Given the description of an element on the screen output the (x, y) to click on. 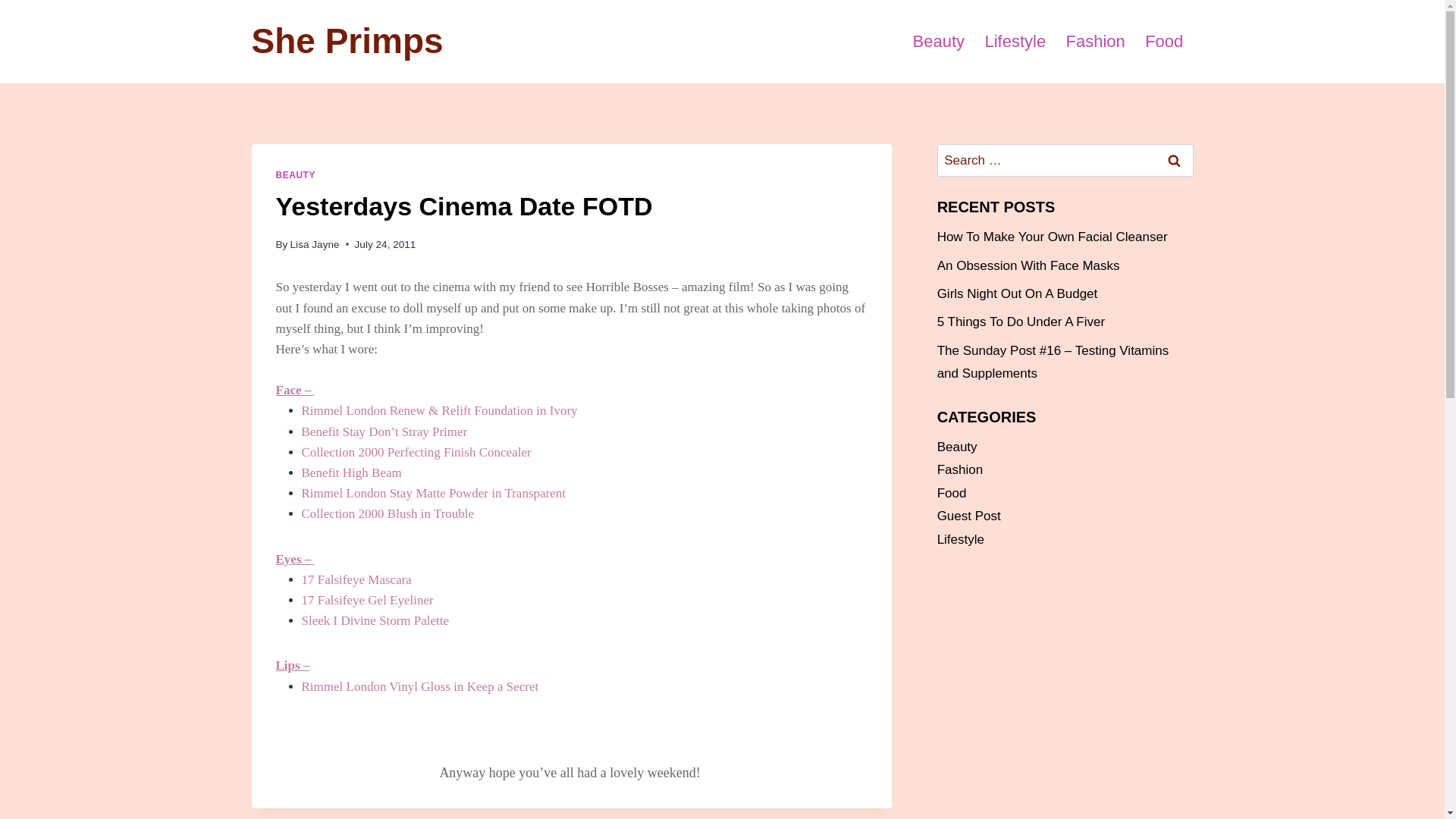
Food (1164, 41)
She Primps (347, 41)
Lisa Jayne (314, 244)
BEAUTY (295, 174)
Beauty (938, 41)
Search (1174, 160)
Search (1174, 160)
Fashion (1095, 41)
Lifestyle (1014, 41)
Search (1174, 160)
